Given the description of an element on the screen output the (x, y) to click on. 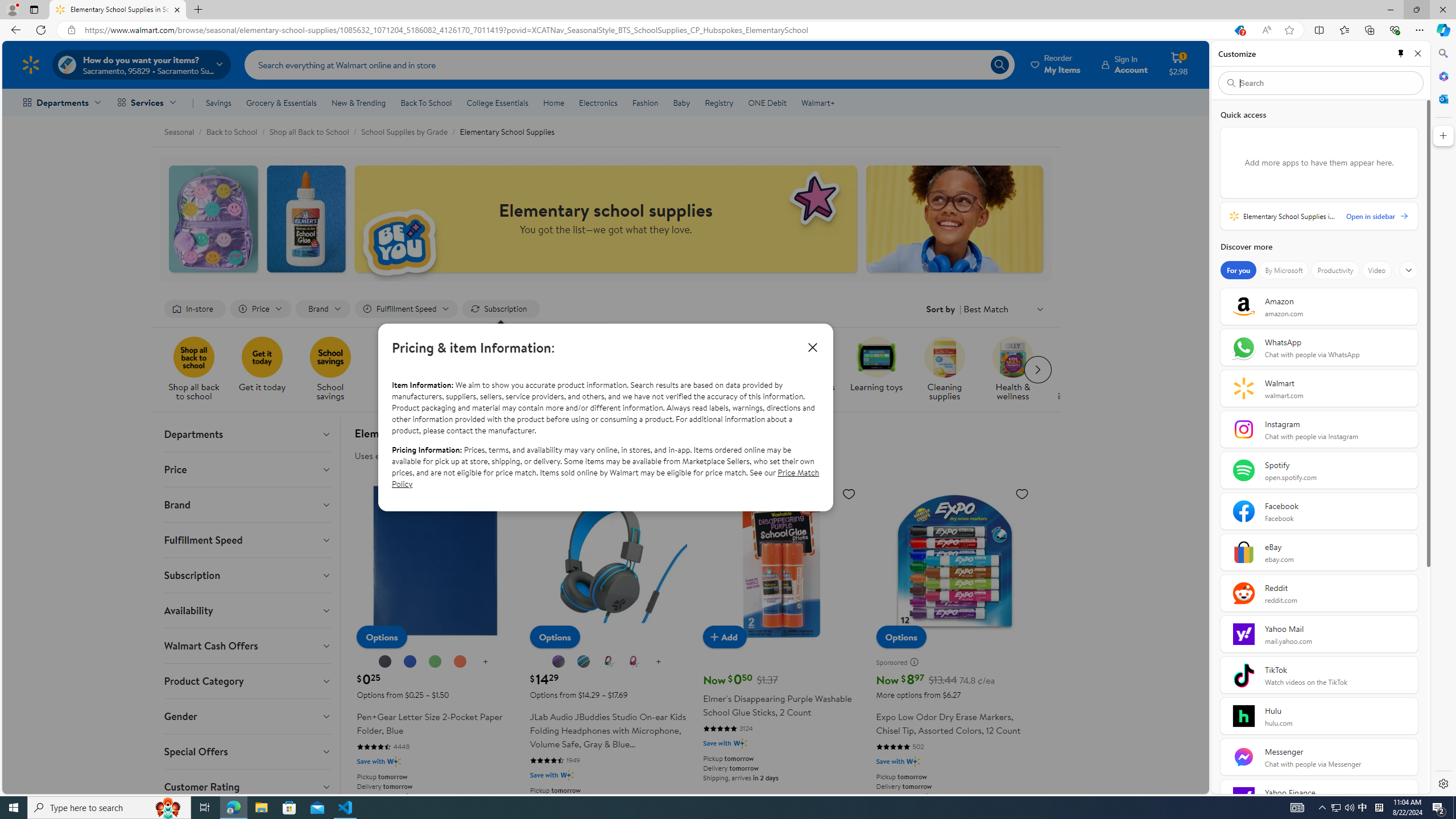
Video (1376, 270)
